Given the description of an element on the screen output the (x, y) to click on. 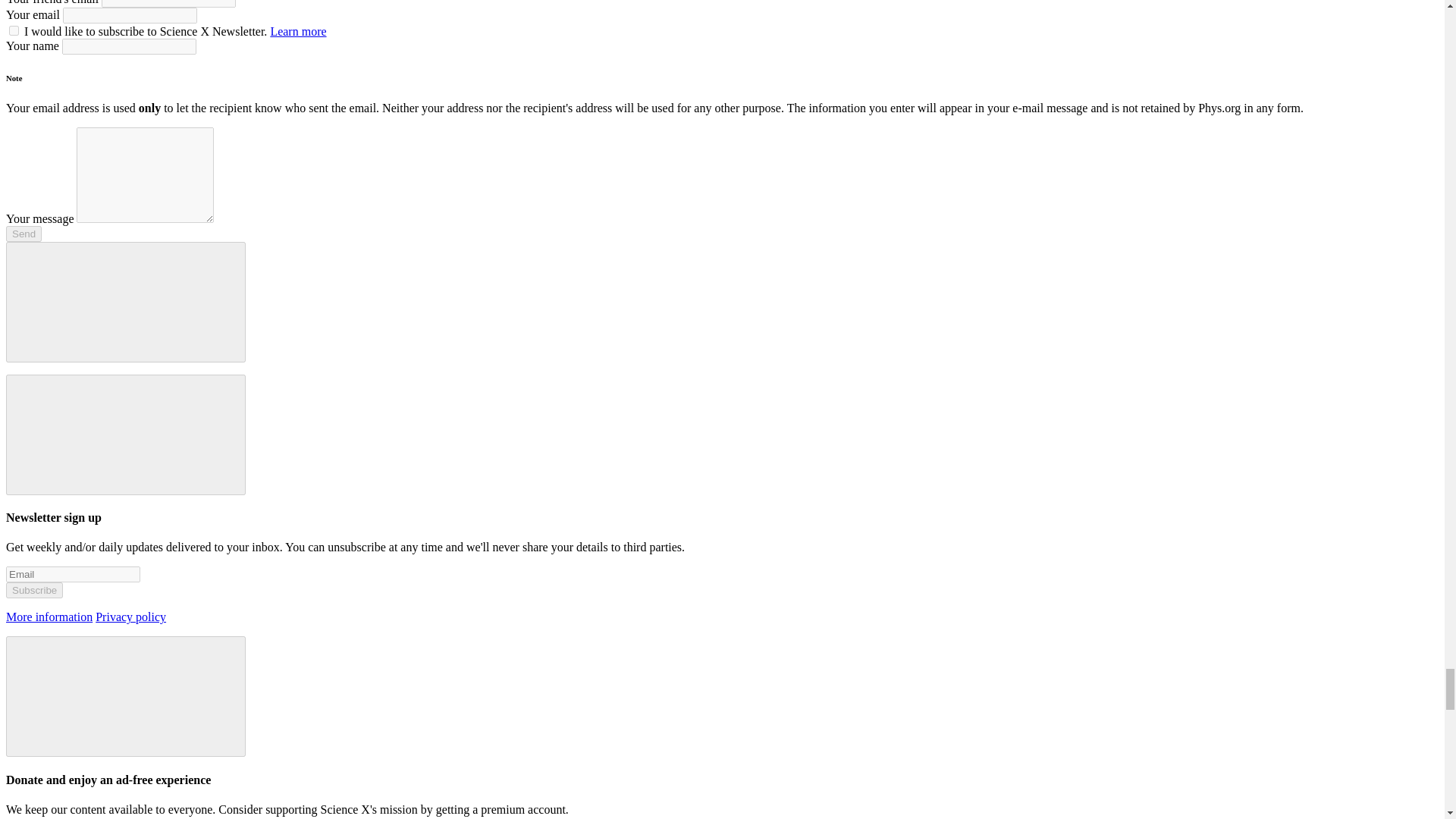
1 (13, 30)
